Given the description of an element on the screen output the (x, y) to click on. 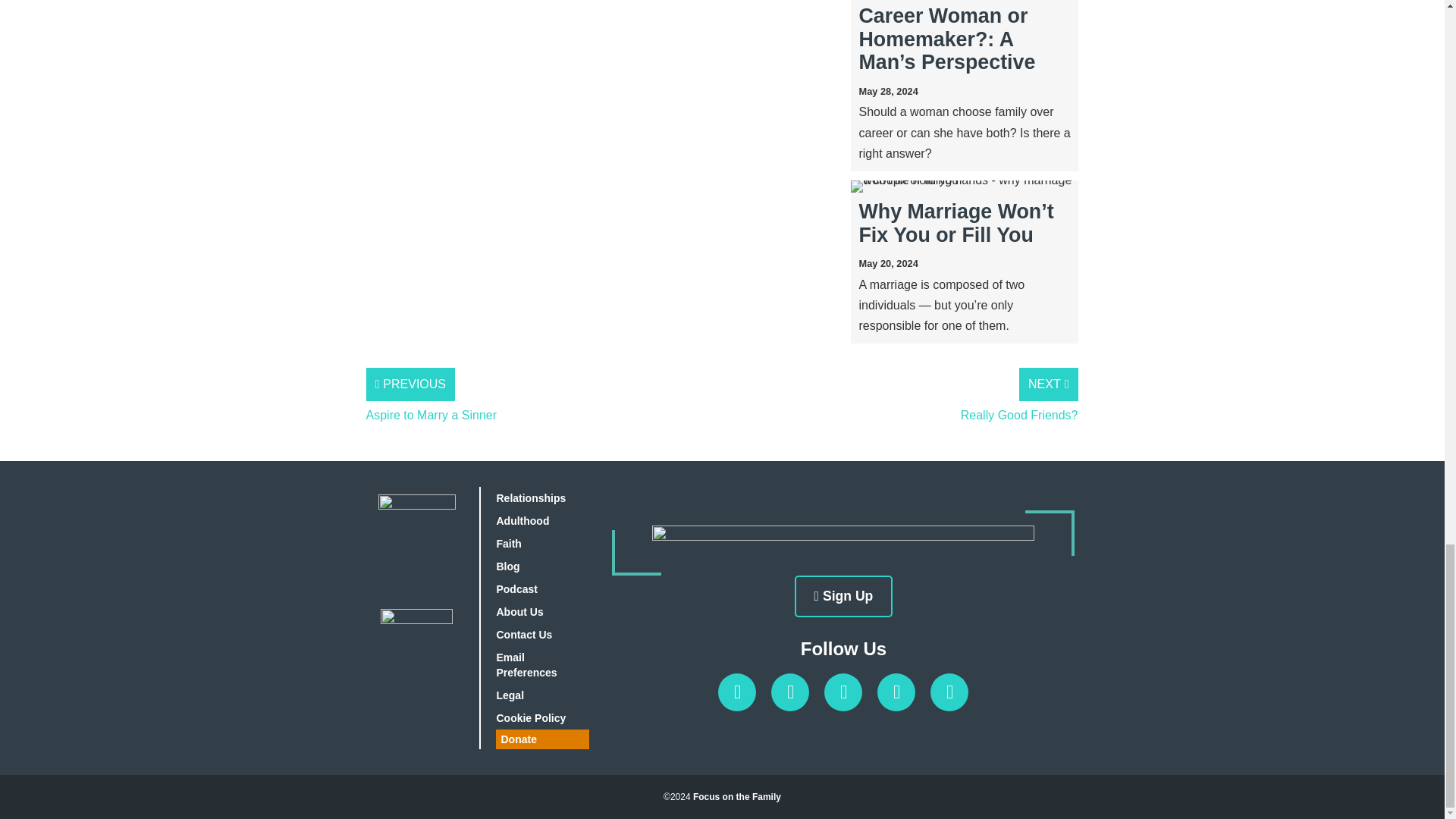
Focus on the Family (736, 796)
